Given the description of an element on the screen output the (x, y) to click on. 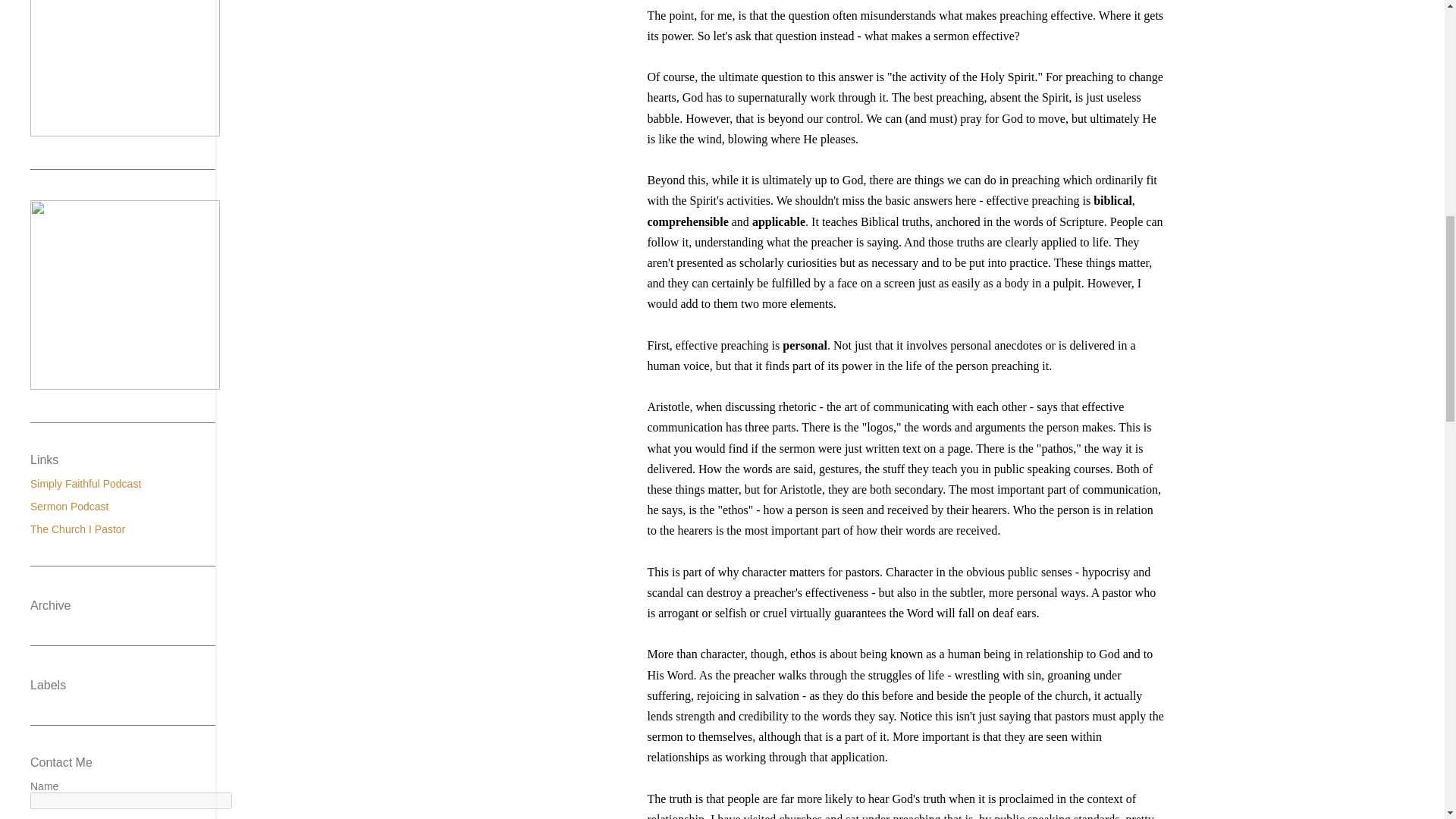
Sermon Podcast (69, 506)
Simply Faithful Podcast (85, 483)
The Church I Pastor (77, 529)
